Given the description of an element on the screen output the (x, y) to click on. 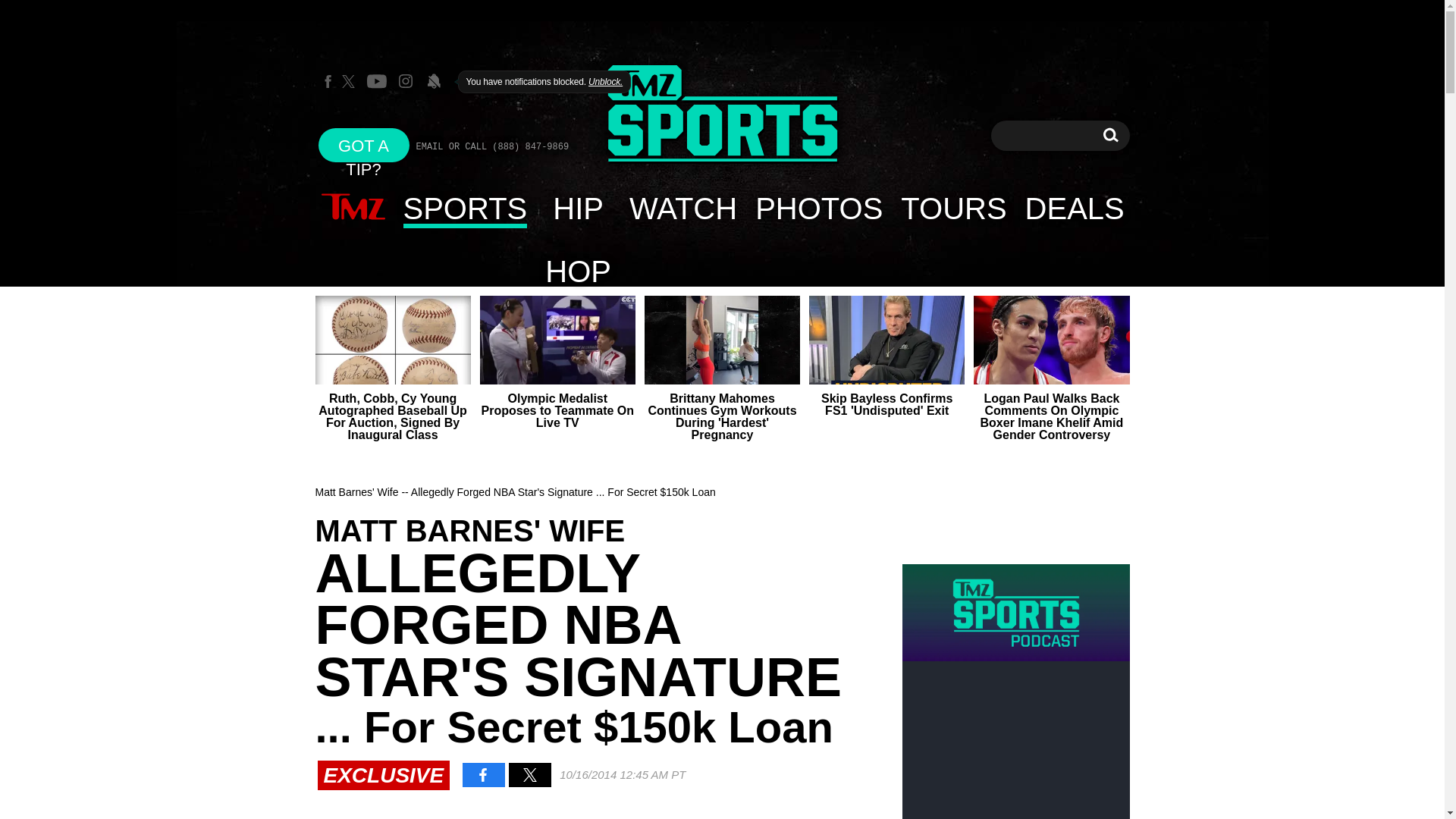
GOT A TIP? (363, 144)
TOURS (952, 207)
HIP HOP (577, 207)
SPORTS (465, 207)
DEALS (1075, 207)
TMZ Sports (722, 113)
TMZ Sports (722, 115)
WATCH (682, 207)
Search (1110, 134)
NEWS (353, 207)
PHOTOS (818, 207)
